Given the description of an element on the screen output the (x, y) to click on. 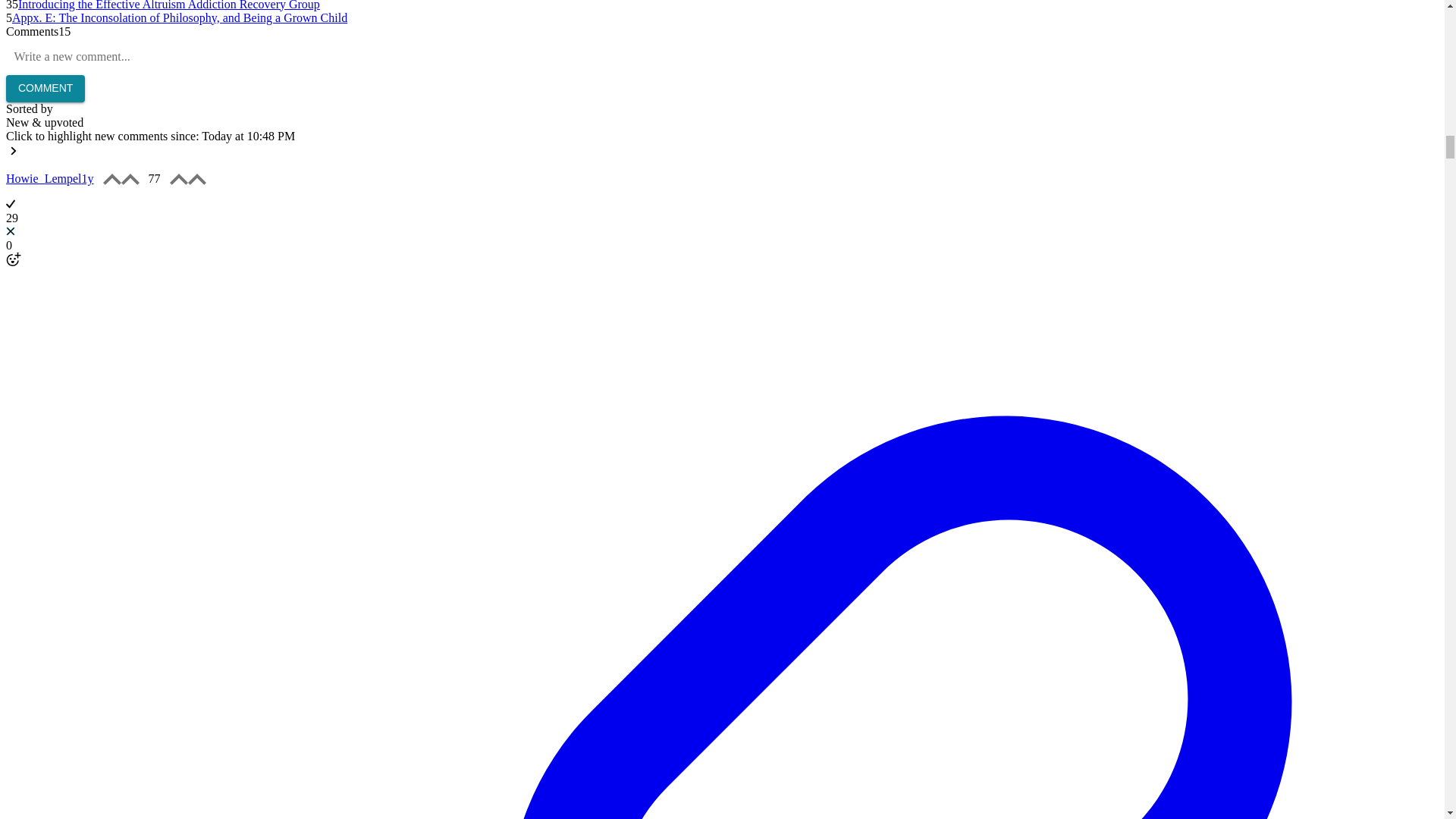
COMMENT (44, 88)
Introducing the Effective Altruism Addiction Recovery Group (168, 4)
